Given the description of an element on the screen output the (x, y) to click on. 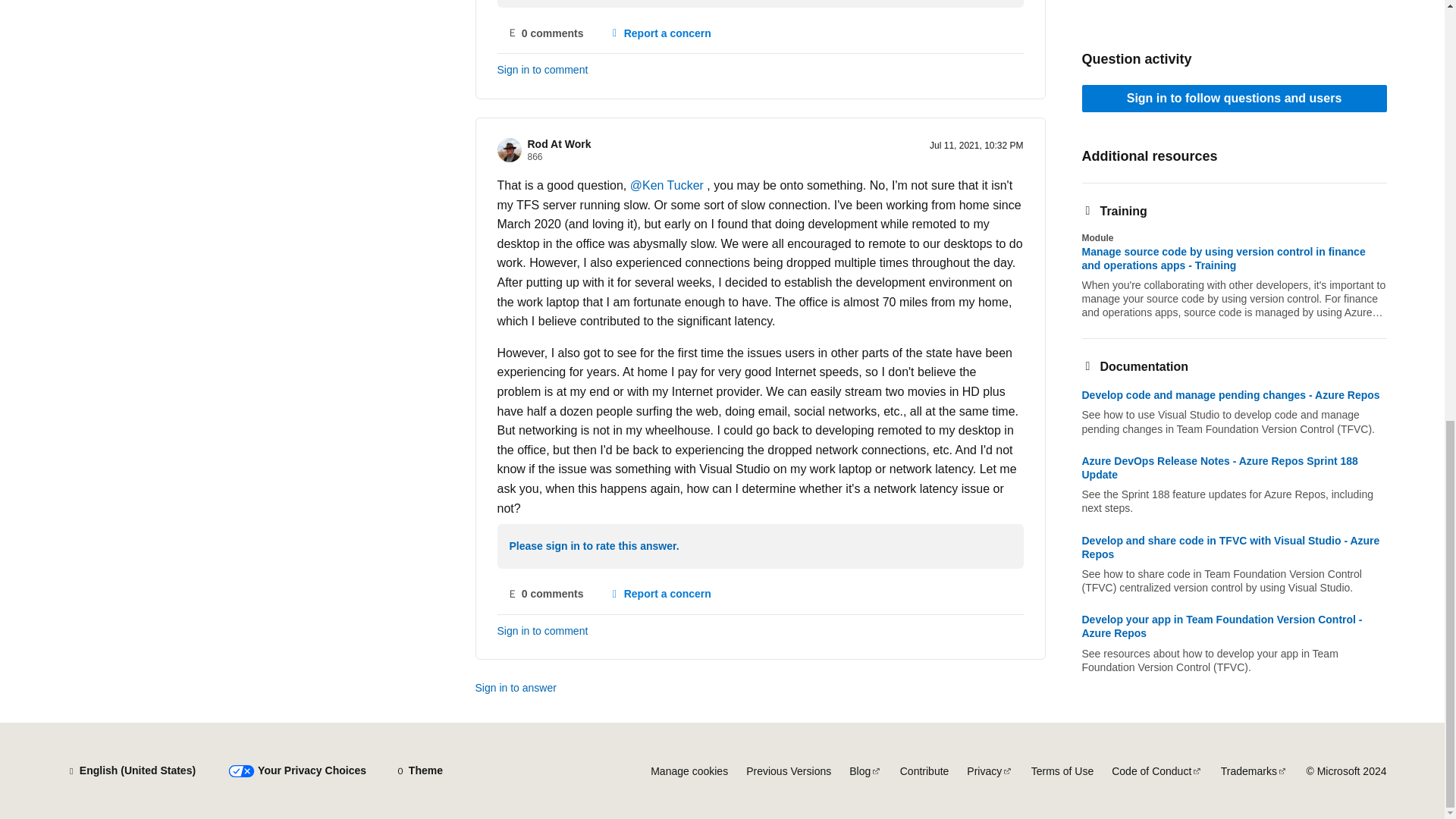
No comments (545, 32)
Report a concern (659, 32)
No comments (545, 594)
Report a concern (659, 594)
Reputation points (535, 156)
